Given the description of an element on the screen output the (x, y) to click on. 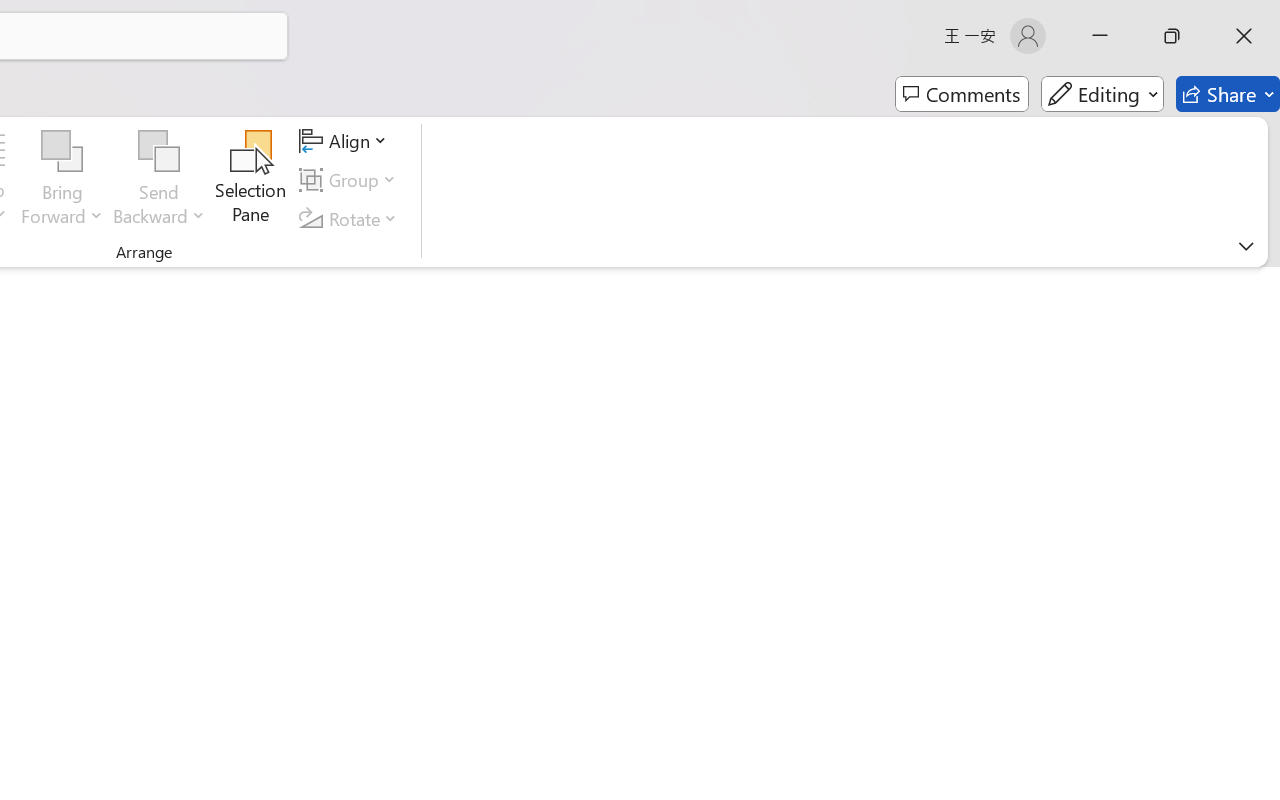
Restore Down (1172, 36)
Close (1244, 36)
